Given the description of an element on the screen output the (x, y) to click on. 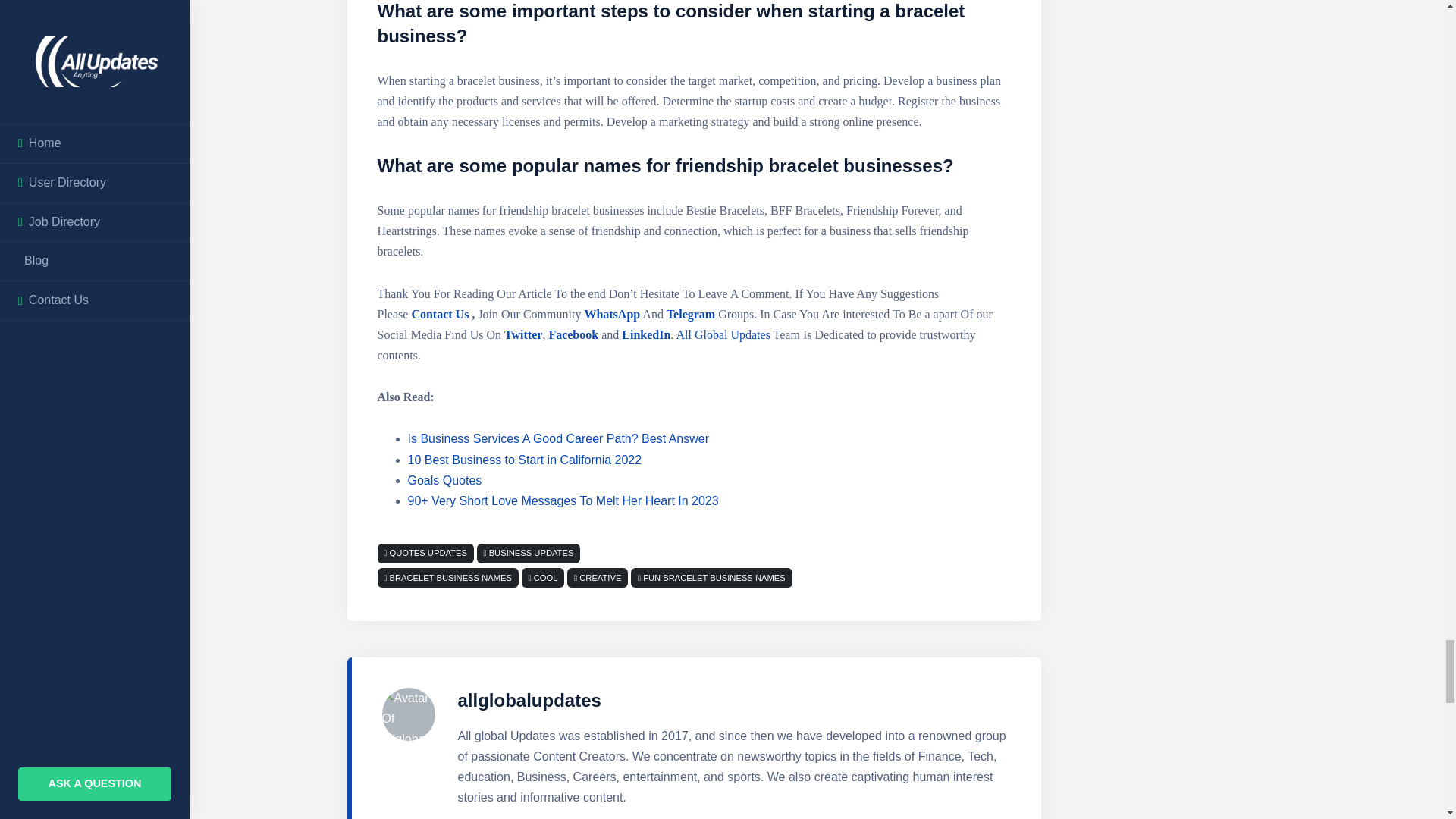
CREATIVE (600, 577)
COOL (545, 577)
Twitter (522, 334)
 Contact Us (437, 314)
 Facebook (571, 334)
BUSINESS UPDATES (528, 552)
Telegram  (691, 314)
WhatsApp  (612, 314)
Goals Quotes (444, 480)
Is Business Services A Good Career Path? Best Answer (558, 438)
FUN BRACELET BUSINESS NAMES (714, 577)
All Global Updates (722, 334)
BRACELET BUSINESS NAMES (451, 577)
10 Best Business to Start in California 2022 (524, 459)
LinkedIn (645, 334)
